Given the description of an element on the screen output the (x, y) to click on. 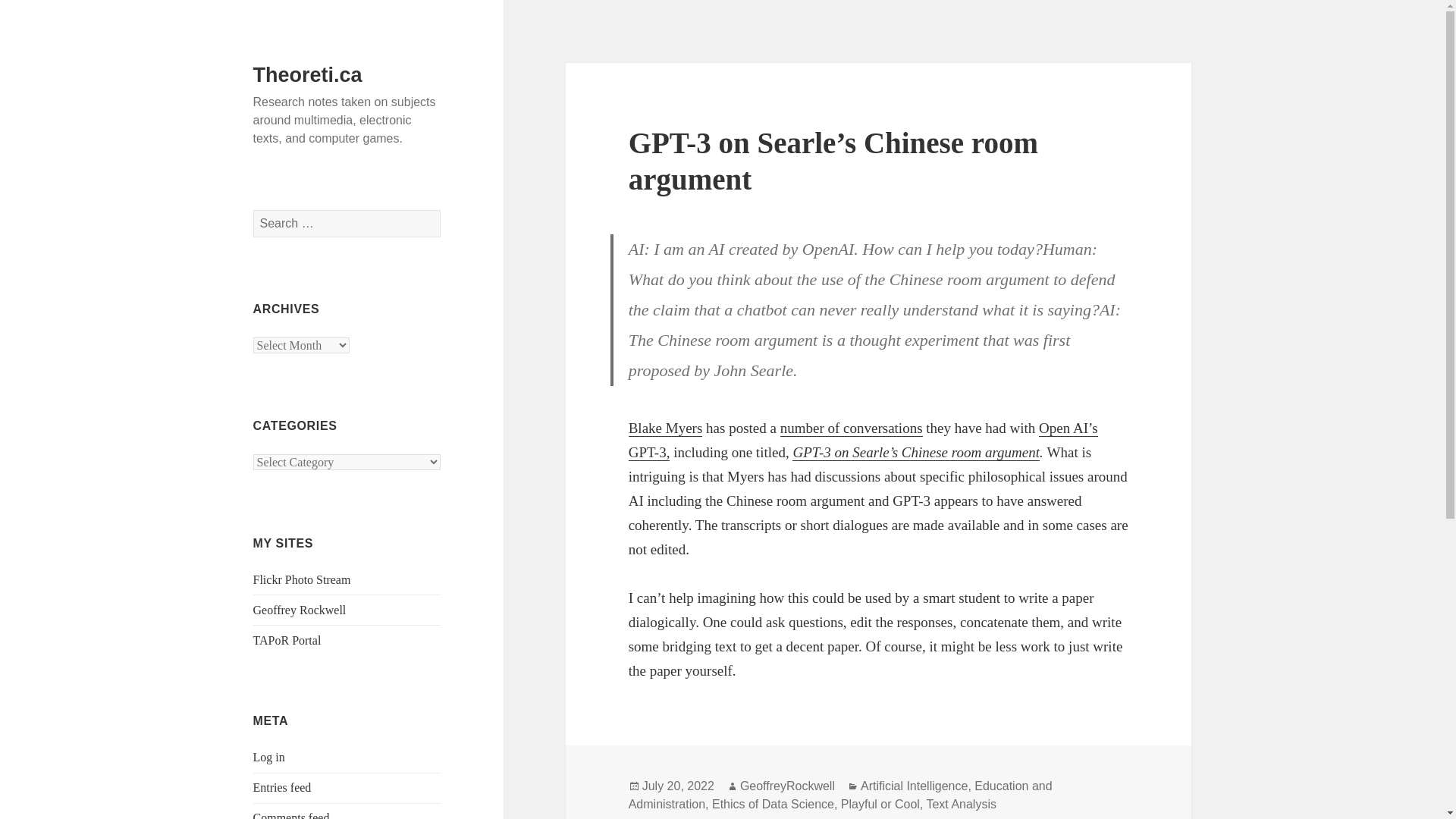
Comments feed (291, 815)
Artificial Intelligence (914, 786)
TAPoR Portal (287, 640)
Playful or Cool (880, 804)
Theoreti.ca (307, 74)
GeoffreyRockwell (786, 786)
Text analysis portal to tools (287, 640)
Log in (269, 757)
Photos by Geoffrey Rockwell (301, 579)
